Given the description of an element on the screen output the (x, y) to click on. 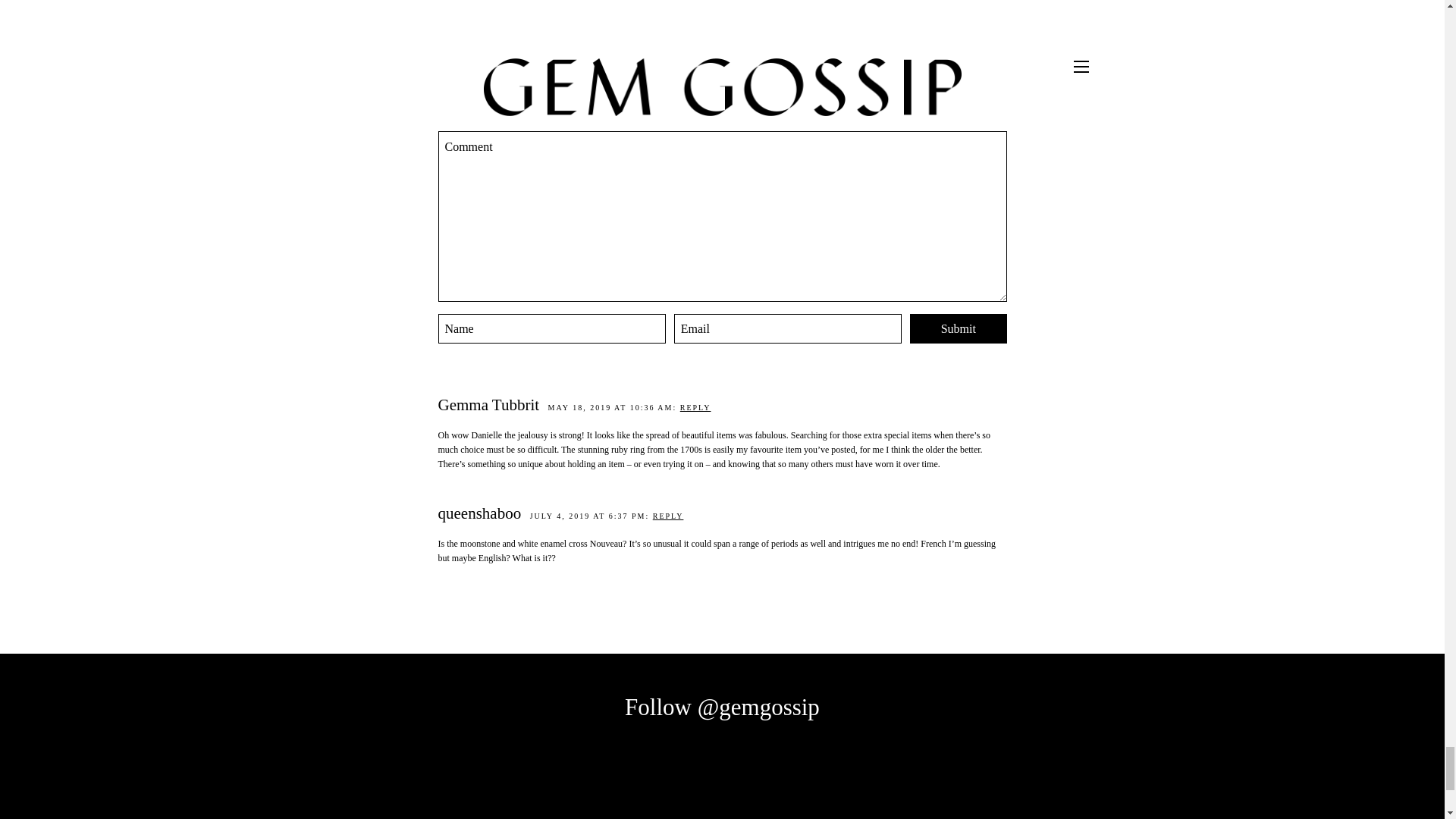
Submit (958, 328)
